Given the description of an element on the screen output the (x, y) to click on. 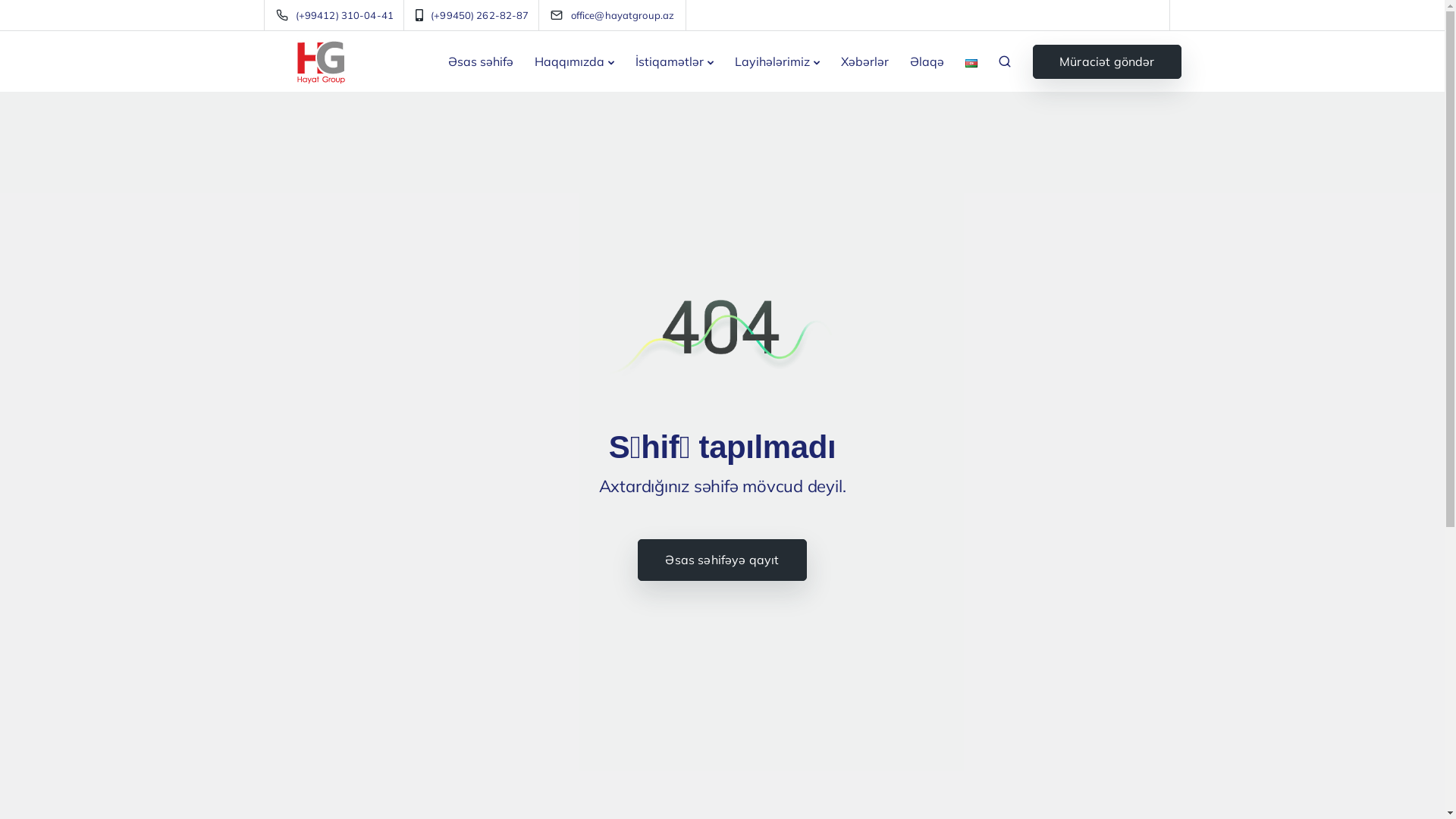
(+99412) 310-04-41 Element type: text (667, 543)
(+99412) 310-04-41 Element type: text (337, 15)
office@hayatgroup.az Element type: text (622, 15)
(+99450) 262-82-87 Element type: text (663, 561)
(+99450) 262-82-87 Element type: text (474, 15)
office@hayatgroup.az Element type: text (670, 579)
